Given the description of an element on the screen output the (x, y) to click on. 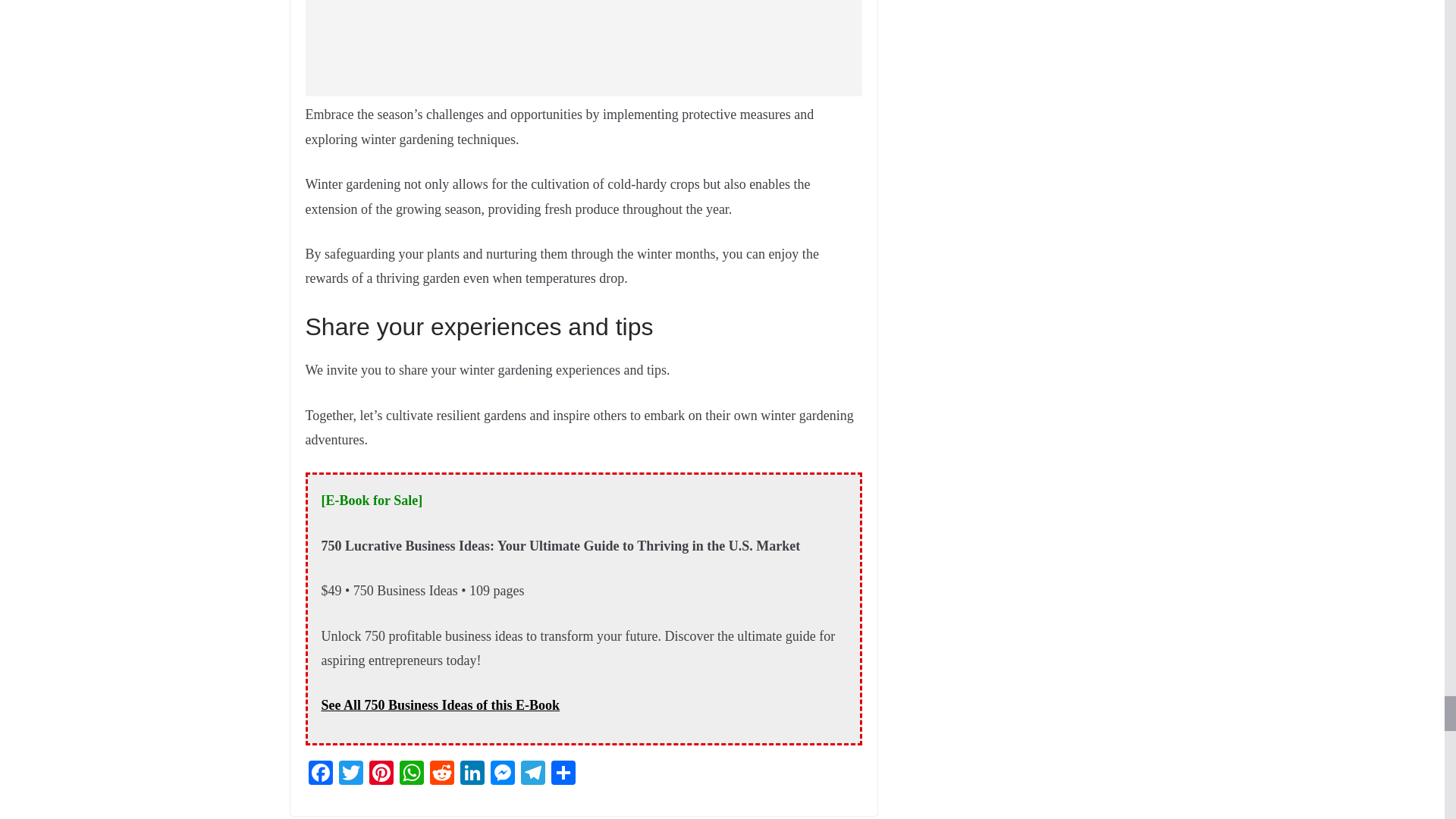
WhatsApp (411, 774)
Messenger (501, 774)
WhatsApp (411, 774)
See All 750 Business Ideas of this E-Book (440, 704)
Telegram (531, 774)
Twitter (349, 774)
Share (562, 774)
LinkedIn (471, 774)
Telegram (531, 774)
Reddit (441, 774)
Pinterest (380, 774)
Facebook (319, 774)
Messenger (501, 774)
Pinterest (380, 774)
Facebook (319, 774)
